Given the description of an element on the screen output the (x, y) to click on. 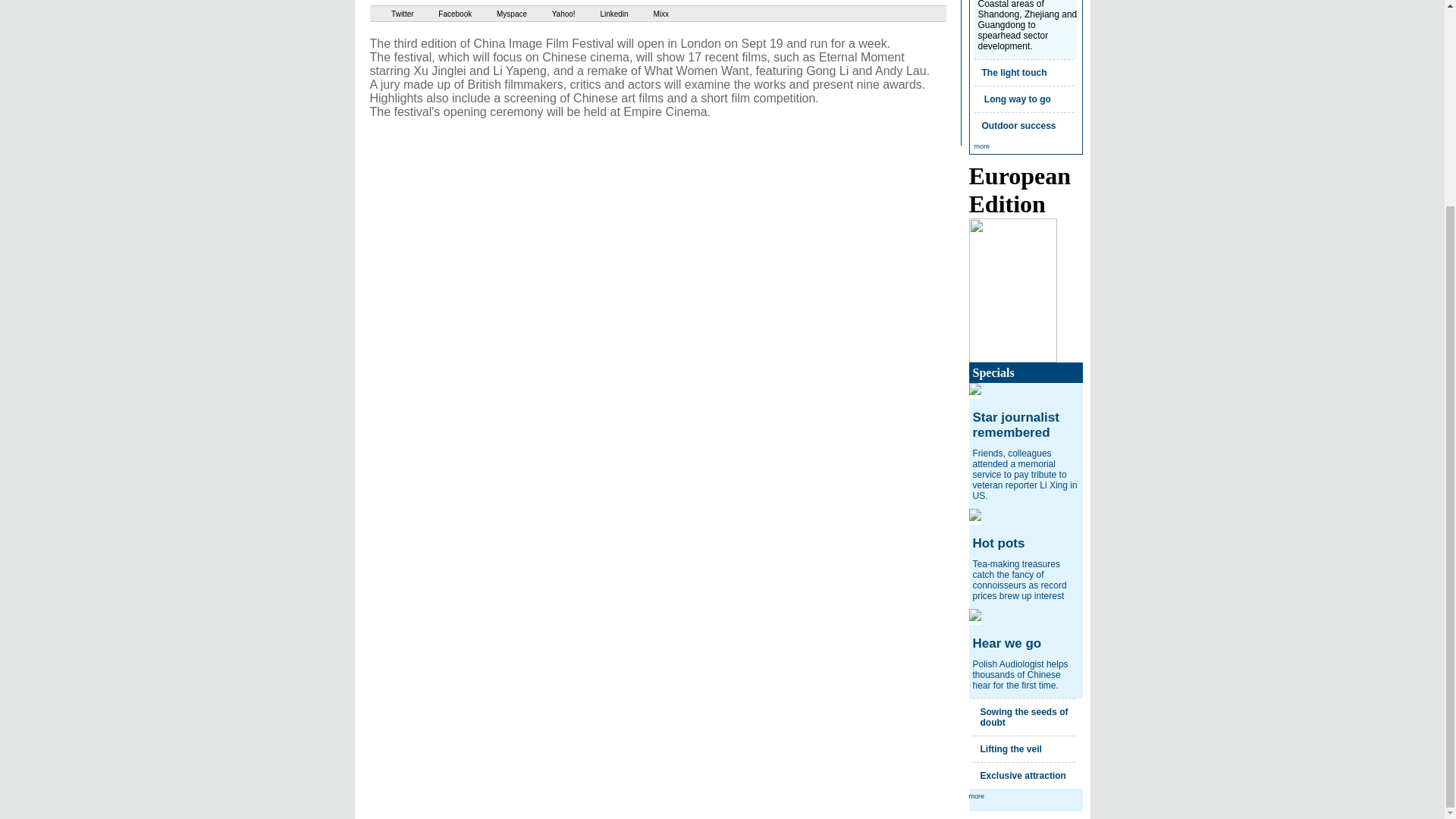
Yahoo! (552, 13)
more (982, 145)
Mixx (649, 13)
Star journalist remembered (1015, 424)
Hear we go (1006, 643)
Share to Yahoo! Buzz (552, 13)
Share to Mixx (649, 13)
Linkedin (603, 13)
 Long way to go  (1016, 99)
Share to Facebook (443, 13)
